Given the description of an element on the screen output the (x, y) to click on. 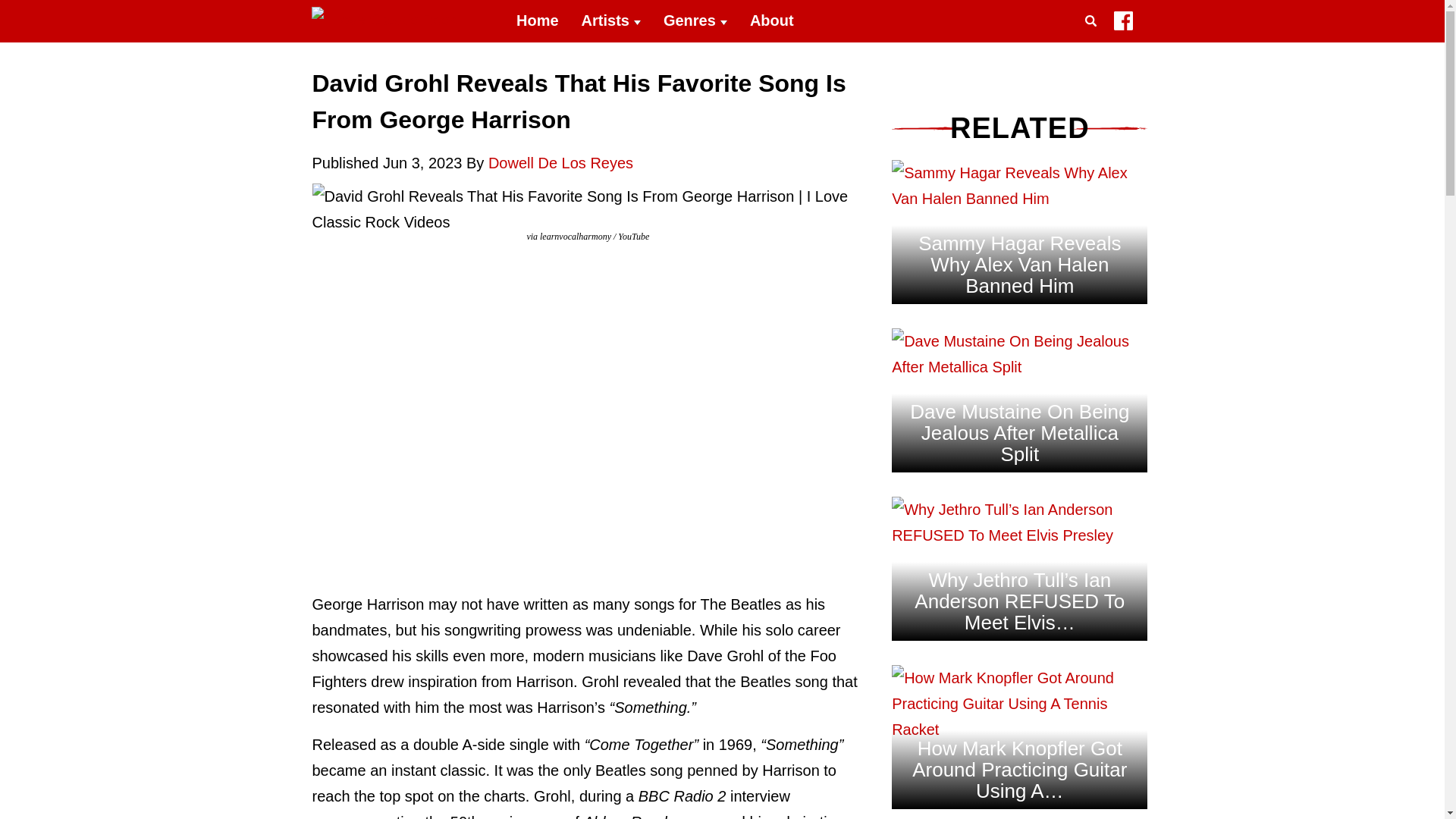
Sammy Hagar Reveals Why Alex Van Halen Banned Him (1019, 198)
Sammy Hagar Reveals Why Alex Van Halen Banned Him (1019, 264)
Sammy Hagar Reveals Why Alex Van Halen Banned Him (1019, 185)
About (771, 21)
Home (537, 21)
Dave Mustaine On Being Jealous After Metallica Split (1019, 366)
Search (1093, 39)
I Love Classic Rock on Facebook (1122, 24)
Artists (611, 21)
Dave Mustaine On Being Jealous After Metallica Split (1019, 432)
